Given the description of an element on the screen output the (x, y) to click on. 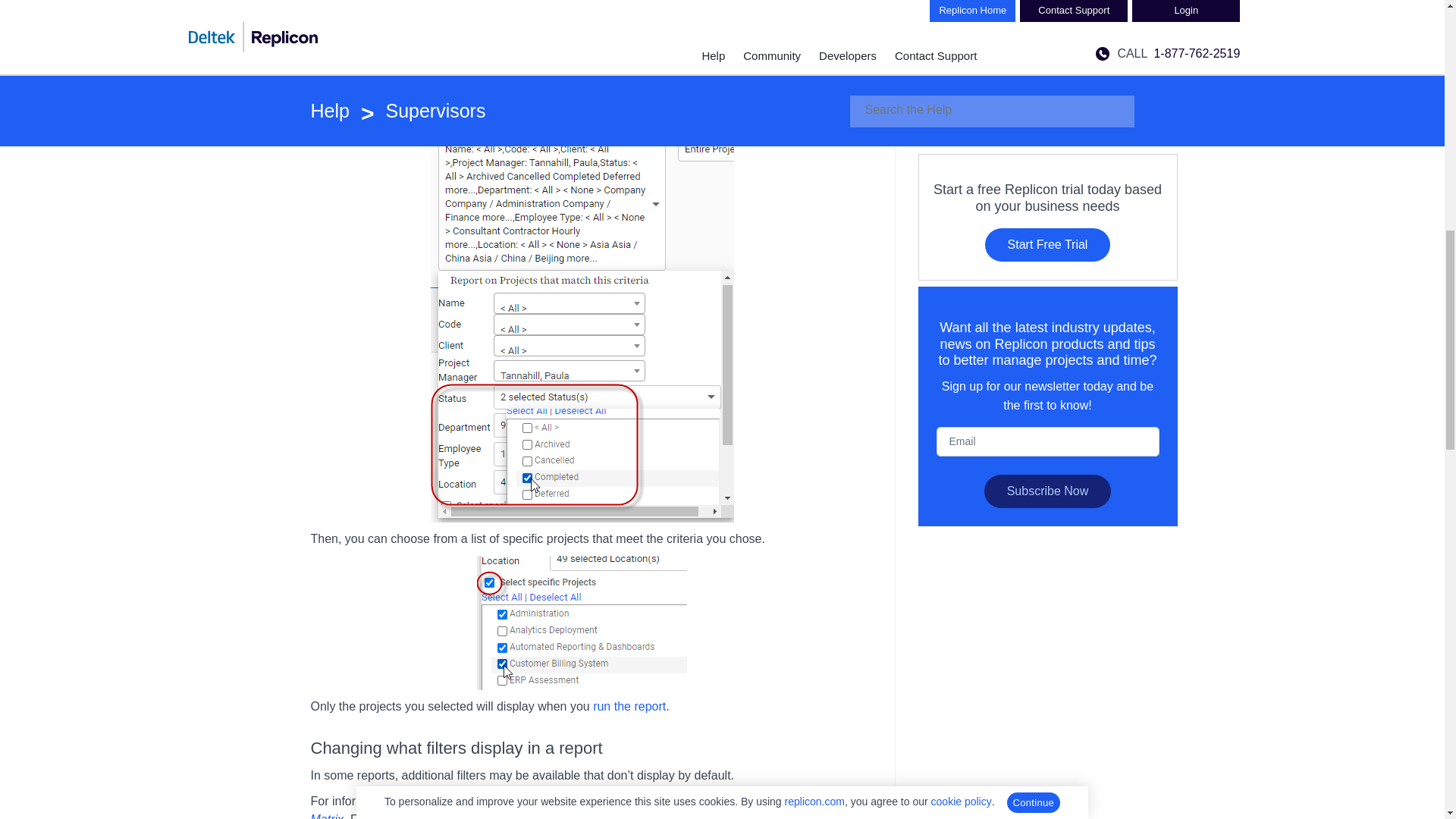
run the report (628, 706)
Reports Field Matrix (555, 806)
